Given the description of an element on the screen output the (x, y) to click on. 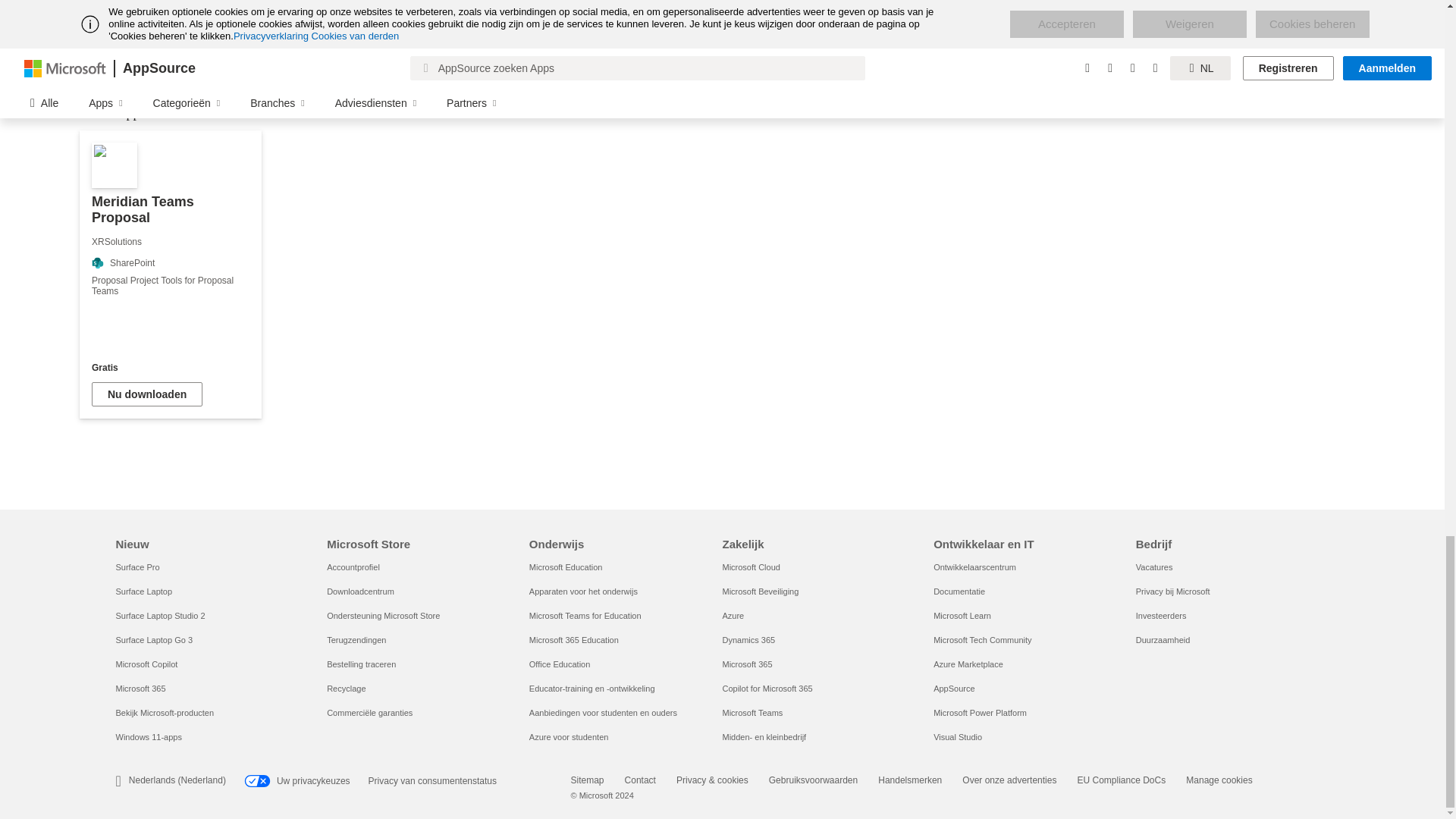
Gratis (169, 367)
Surface Laptop Go 3 (153, 639)
Surface Pro (136, 566)
Surface Laptop Studio 2 (160, 614)
Surface Laptop (143, 591)
Nu downloaden (146, 394)
